Given the description of an element on the screen output the (x, y) to click on. 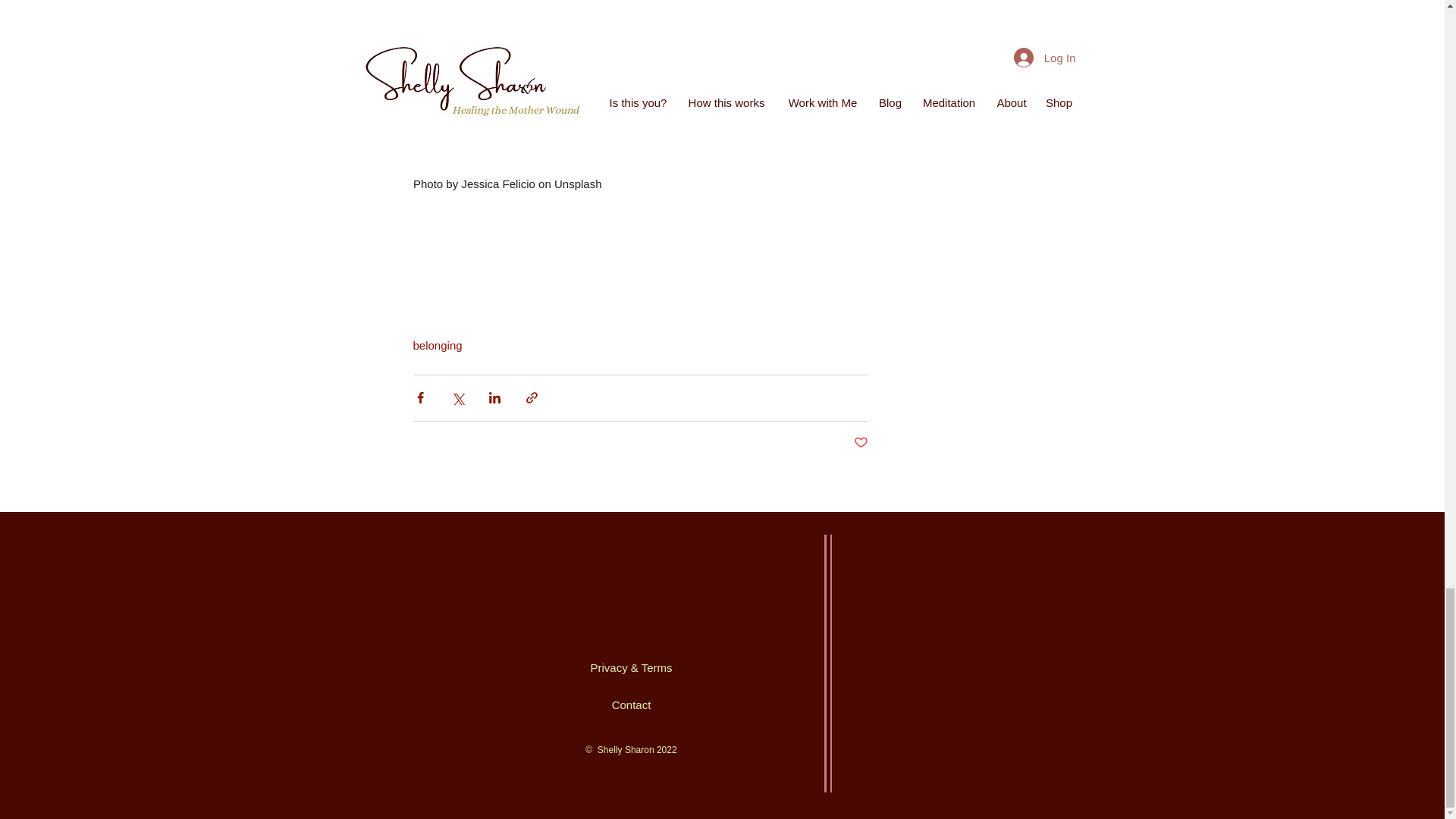
Jessica Felicio (498, 183)
belonging (436, 345)
Life Alignment  (473, 110)
Post not marked as liked (860, 442)
Unsplash (577, 183)
